Given the description of an element on the screen output the (x, y) to click on. 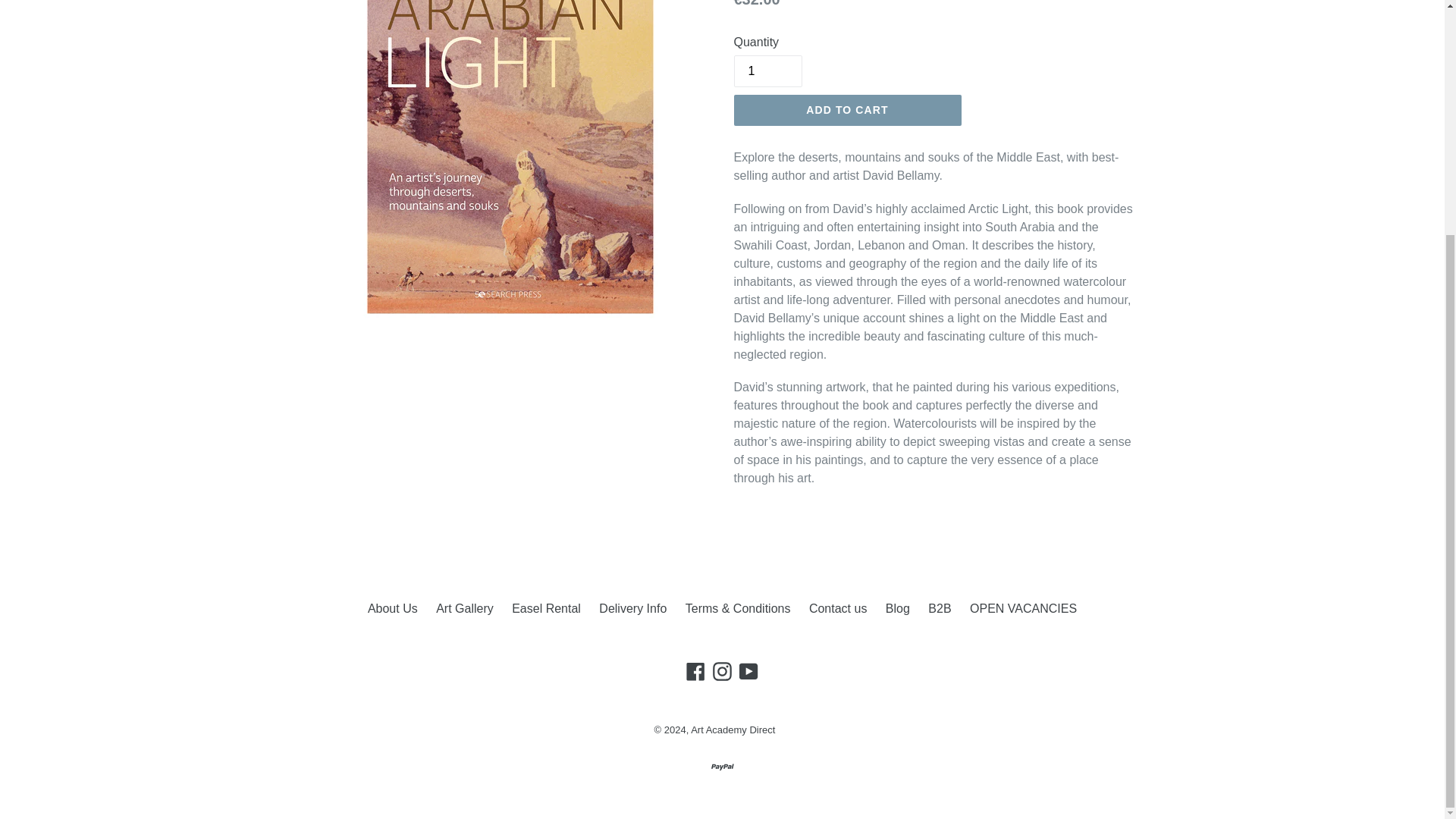
Art Academy Direct on Facebook (695, 670)
1 (767, 70)
Art Academy Direct on YouTube (748, 670)
Art Academy Direct on Instagram (721, 670)
